Given the description of an element on the screen output the (x, y) to click on. 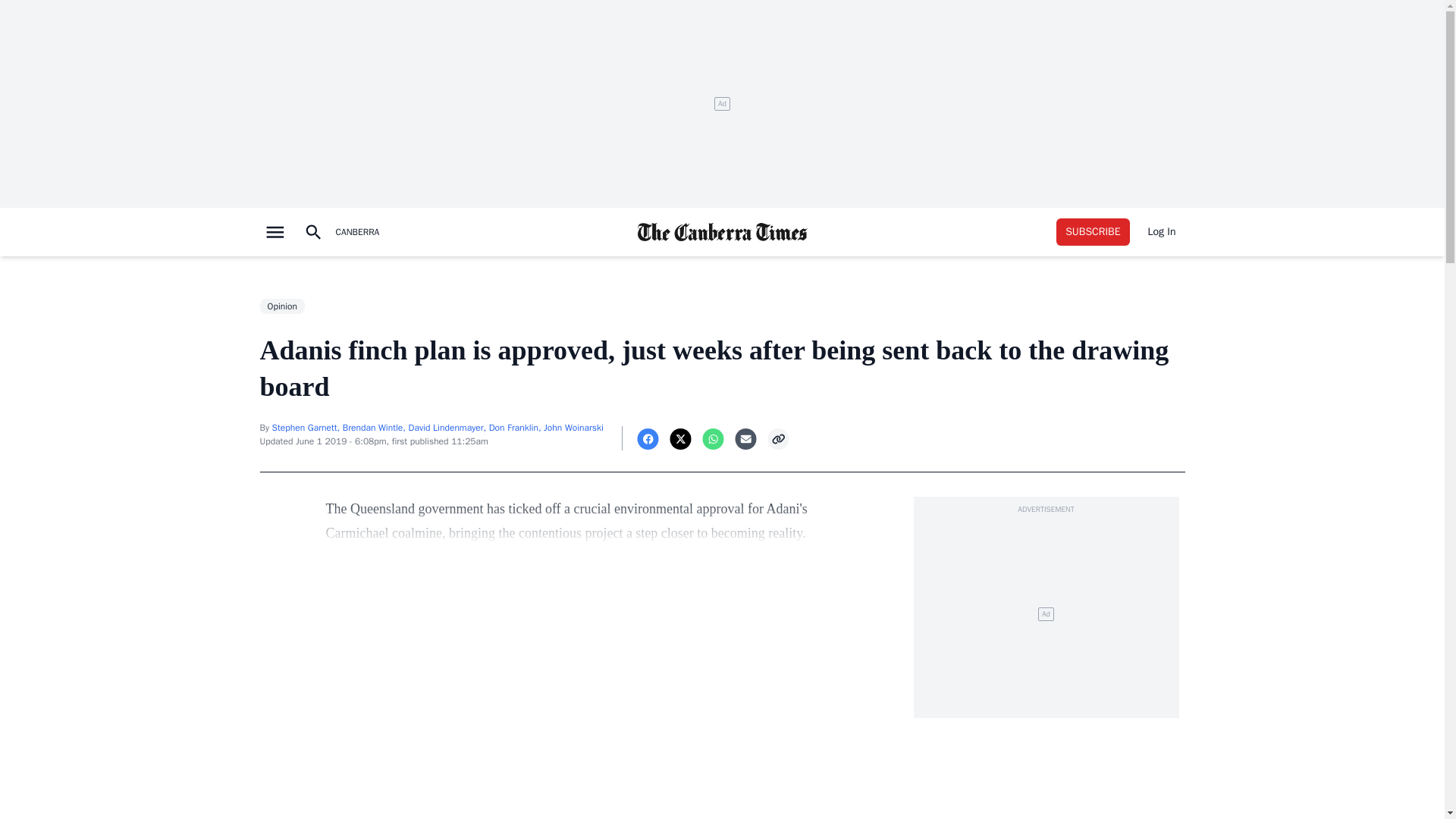
CANBERRA (357, 232)
SUBSCRIBE (1093, 231)
Log In (1161, 231)
